Given the description of an element on the screen output the (x, y) to click on. 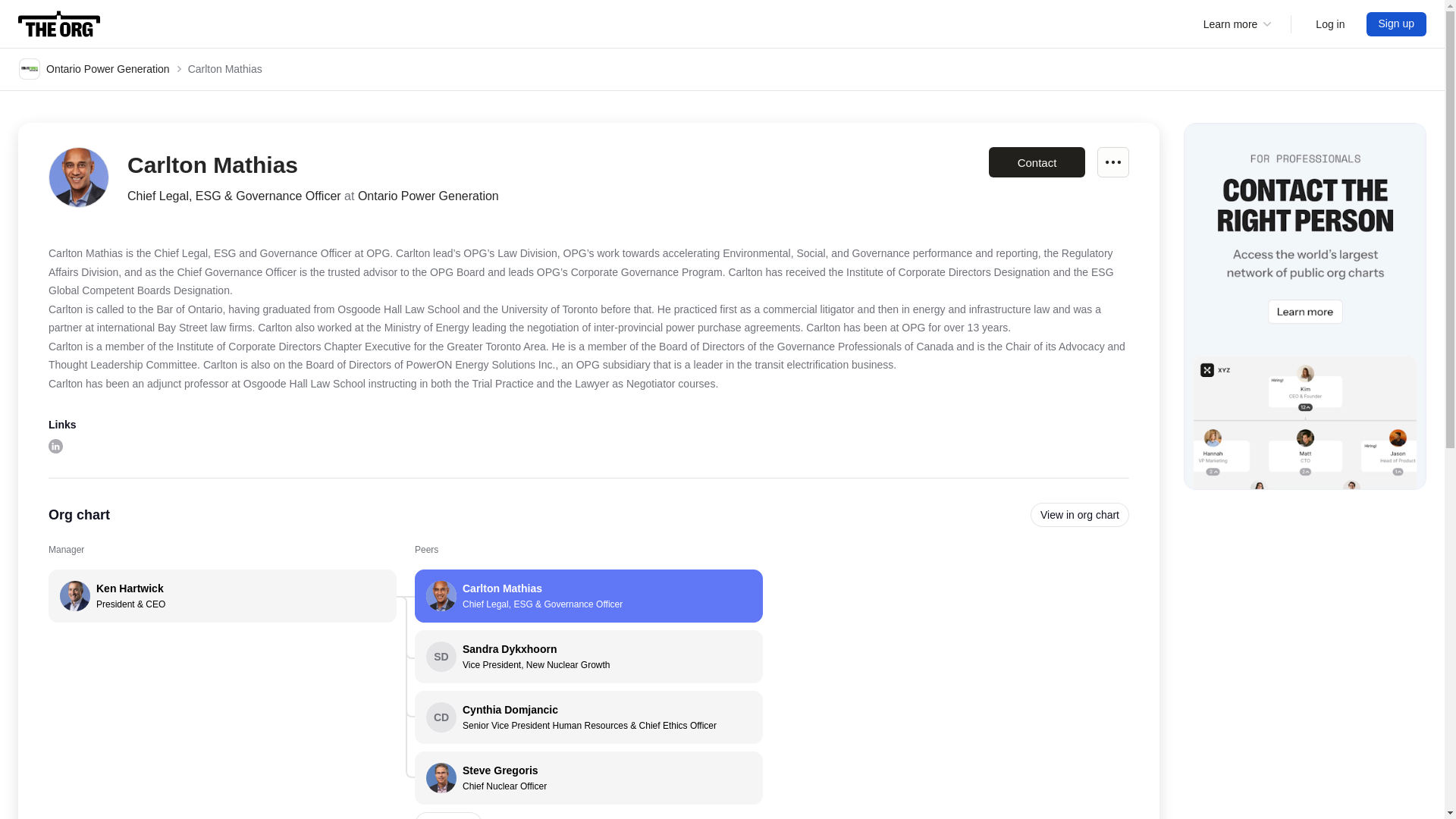
Sign up to The Org (1396, 24)
View on linkedIn (55, 445)
Learn more (1237, 24)
View in org chart (1079, 514)
Ontario Power Generation (94, 68)
Contact (588, 777)
The Org Home (1036, 162)
Log in to The Org (588, 656)
Log in (58, 23)
Sign up (1329, 24)
Join, edit and report menu (1329, 24)
